Given the description of an element on the screen output the (x, y) to click on. 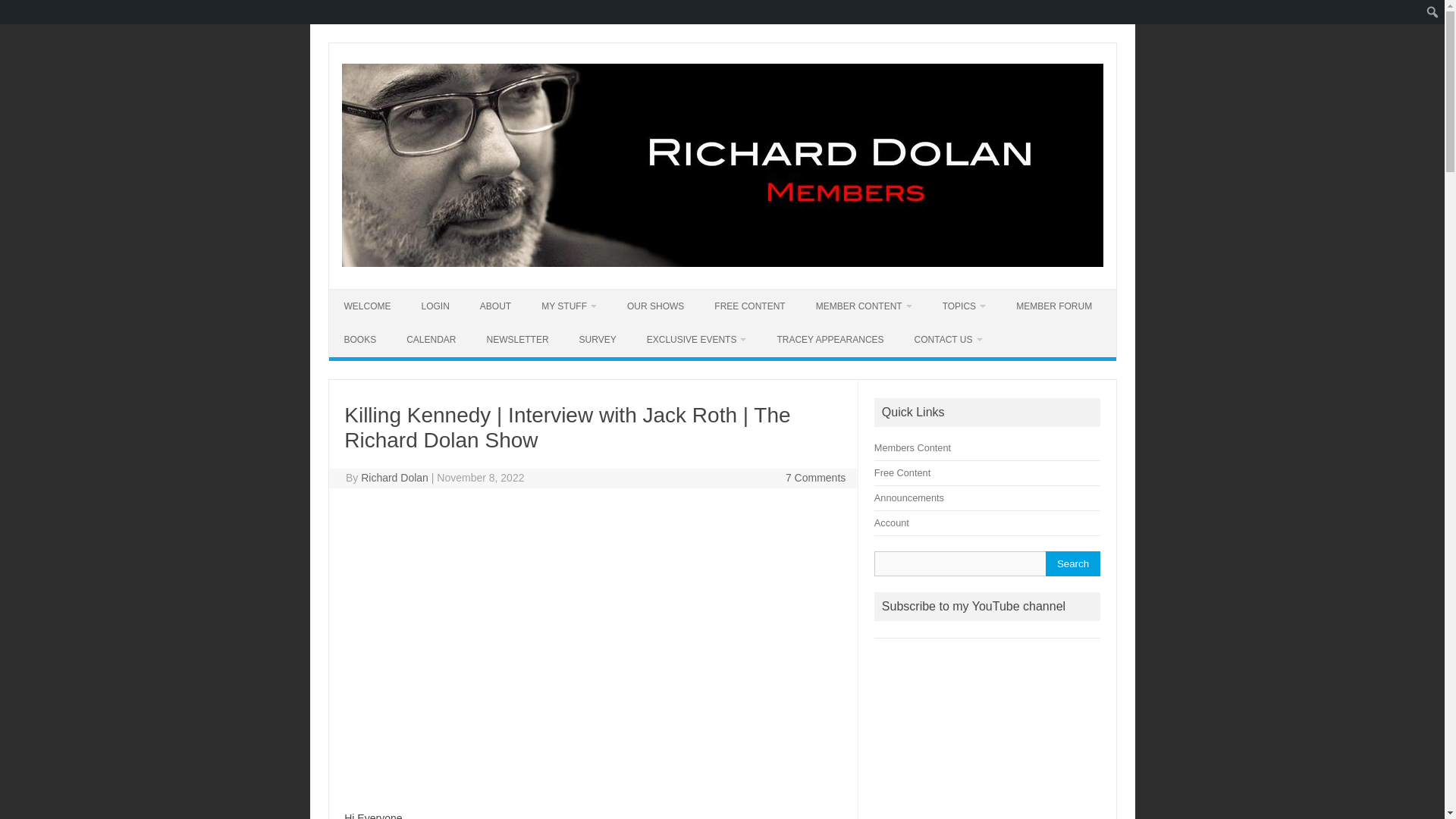
ABOUT (494, 305)
MY STUFF (568, 305)
WELCOME (367, 305)
MEMBER CONTENT (863, 305)
TOPICS (964, 305)
Posts by Richard Dolan (394, 477)
LOGIN (435, 305)
Search (16, 12)
OUR SHOWS (654, 305)
Search (1072, 563)
